Given the description of an element on the screen output the (x, y) to click on. 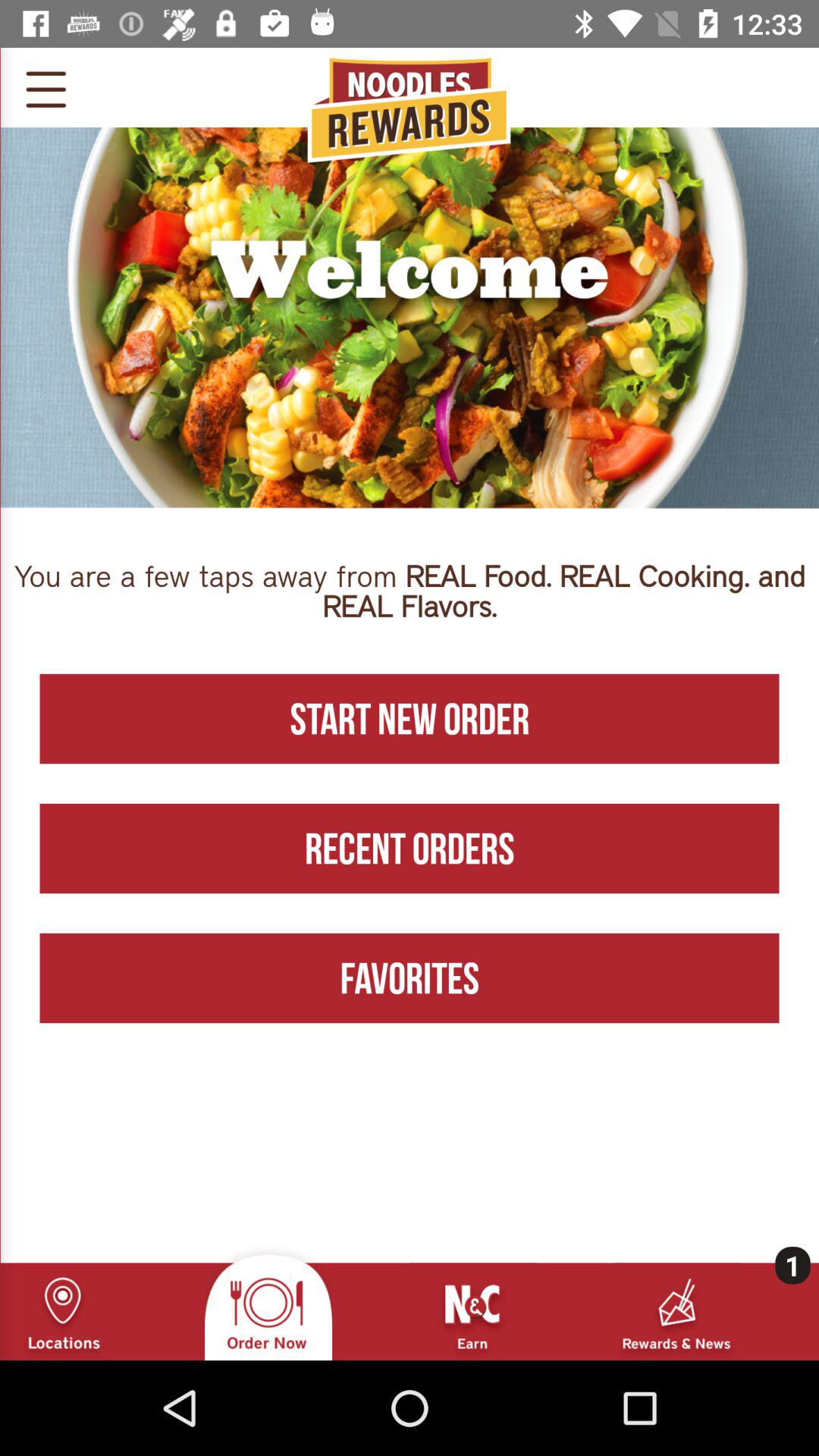
share the article (45, 87)
